Given the description of an element on the screen output the (x, y) to click on. 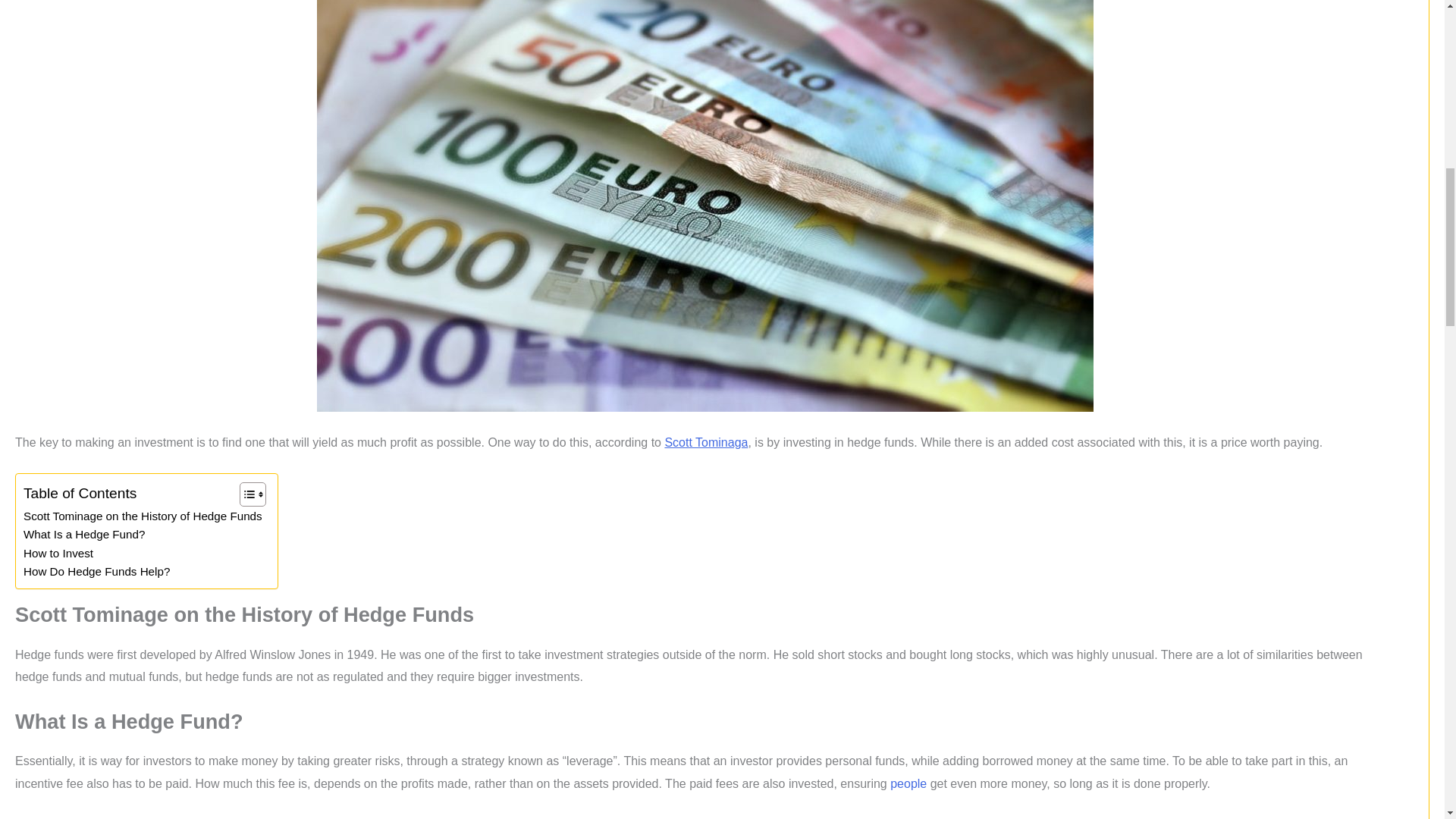
What Is a Hedge Fund? (83, 534)
How Do Hedge Funds Help? (96, 571)
Scott Tominage on the History of Hedge Funds (142, 515)
Scott Tominage on the History of Hedge Funds (142, 515)
Scott Tominaga (705, 441)
How Do Hedge Funds Help? (96, 571)
people (907, 783)
How to Invest (58, 553)
How to Invest (58, 553)
What Is a Hedge Fund? (83, 534)
